Given the description of an element on the screen output the (x, y) to click on. 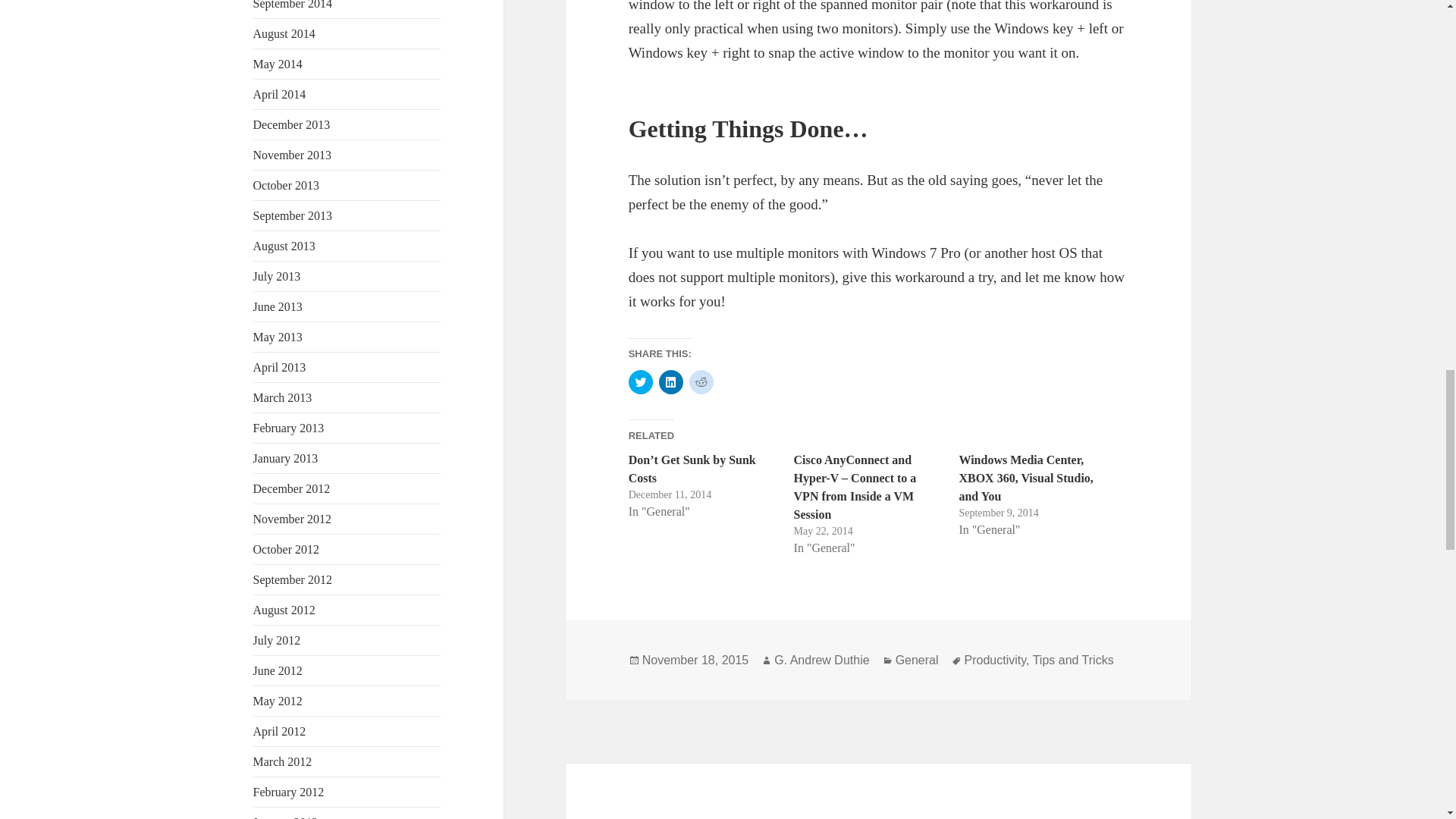
August 2014 (284, 33)
Click to share on LinkedIn (670, 548)
September 2014 (292, 4)
Click to share on Reddit (700, 548)
Click to share on Twitter (640, 548)
